Given the description of an element on the screen output the (x, y) to click on. 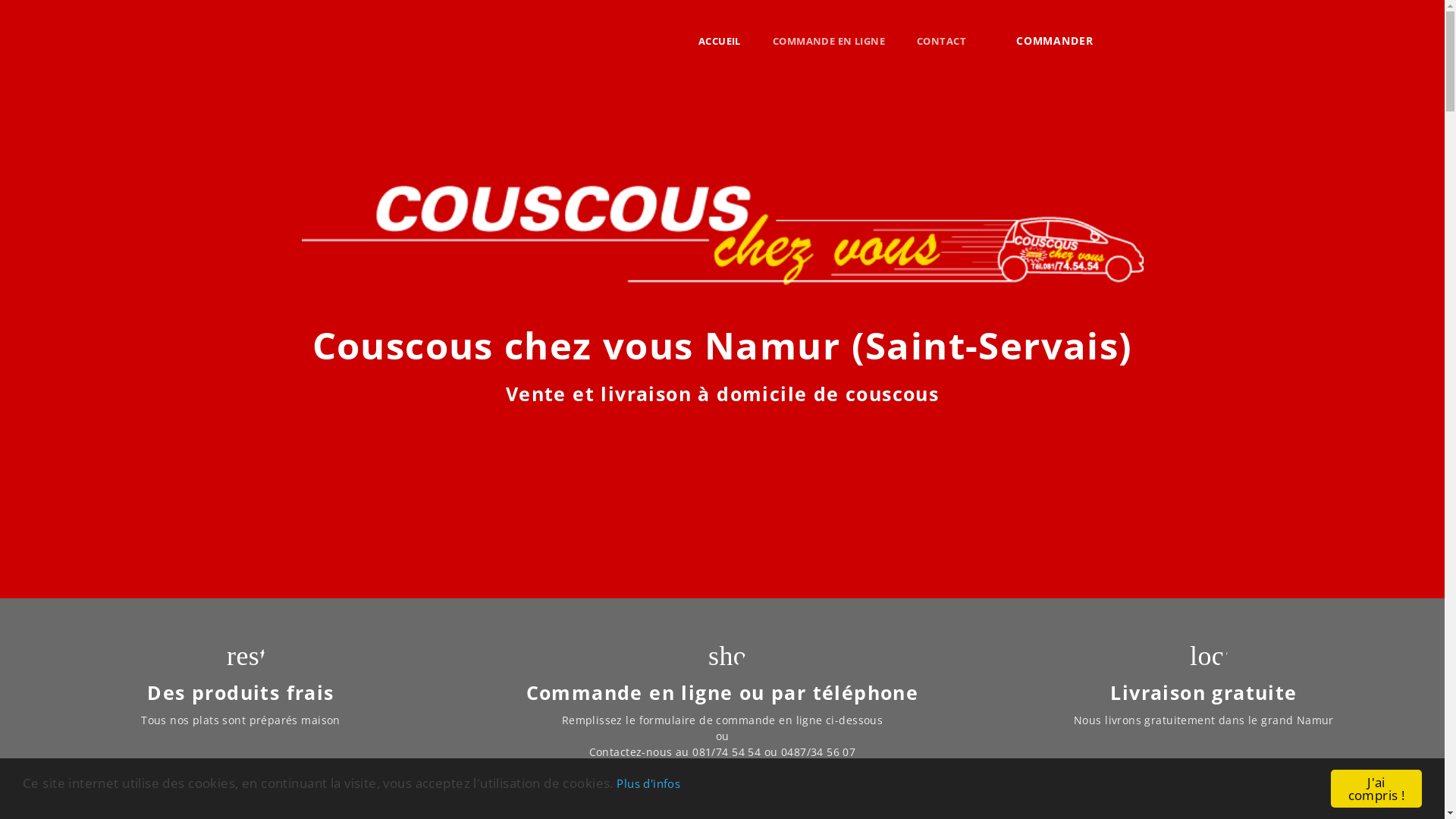
J'ai compris ! Element type: text (1375, 788)
COMMANDE EN LIGNE Element type: text (828, 41)
CONTACT Element type: text (933, 41)
ACCUEIL Element type: text (719, 41)
COMMANDER Element type: text (1054, 41)
Plus d'infos Element type: text (648, 782)
